Given the description of an element on the screen output the (x, y) to click on. 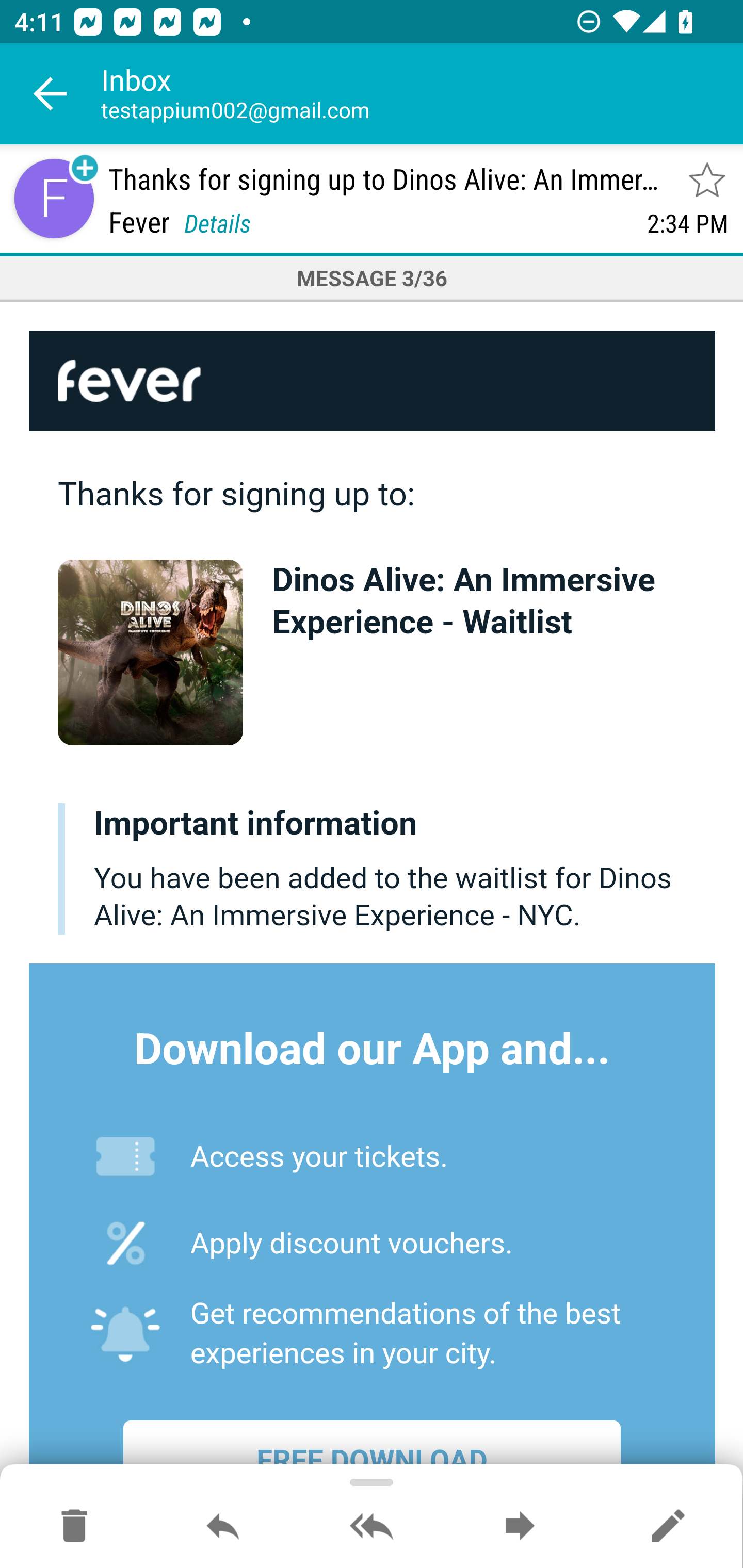
Navigate up (50, 93)
Inbox testappium002@gmail.com (422, 93)
Sender contact button (53, 198)
fever (372, 379)
Dinos Alive: An Immersive Experience - Waitlist (150, 651)
Dinos Alive: An Immersive Experience - Waitlist (463, 601)
Move to Deleted (74, 1527)
Reply (222, 1527)
Reply all (371, 1527)
Forward (519, 1527)
Reply as new (667, 1527)
